Given the description of an element on the screen output the (x, y) to click on. 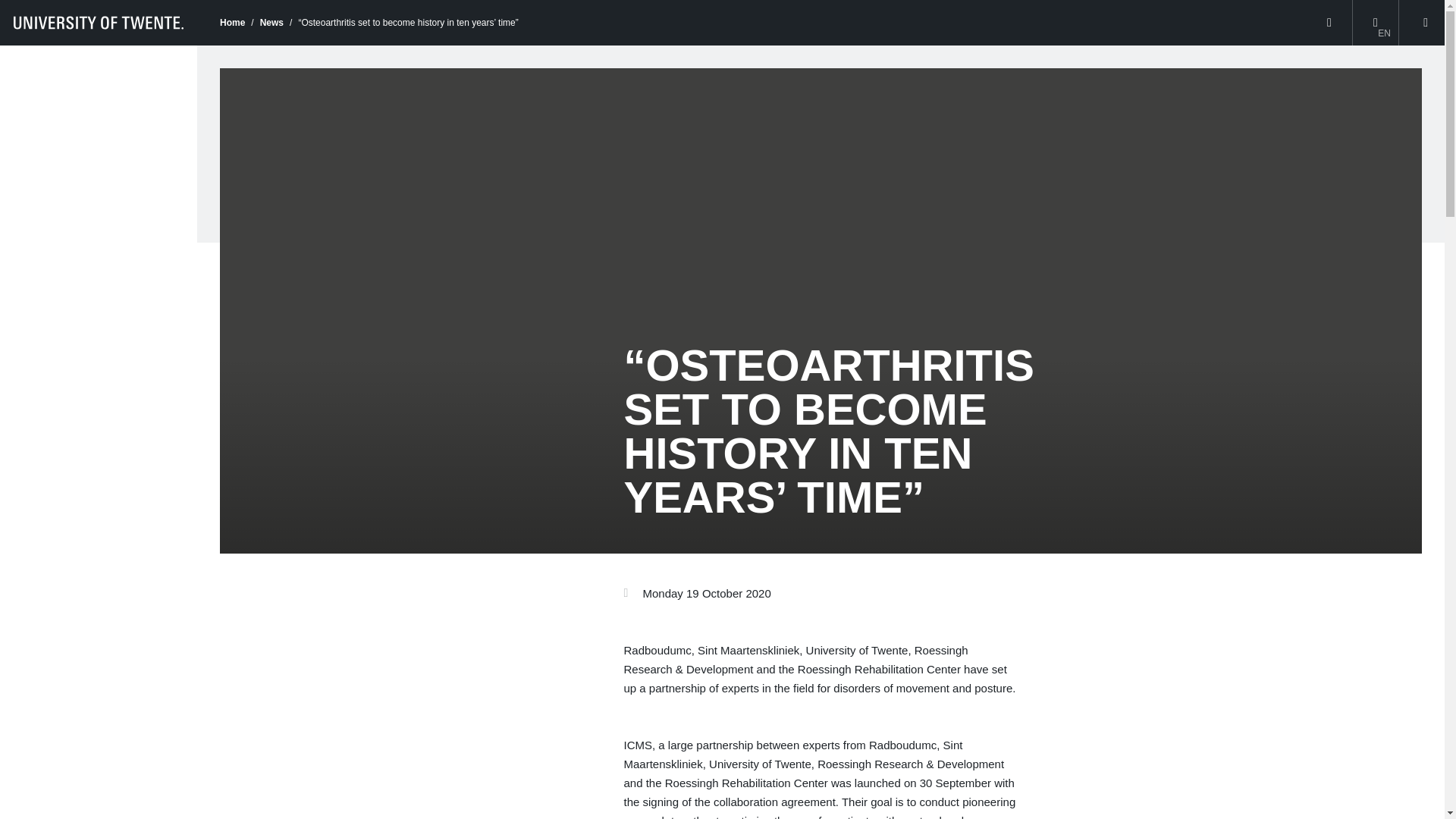
Home (231, 22)
News (271, 22)
